Given the description of an element on the screen output the (x, y) to click on. 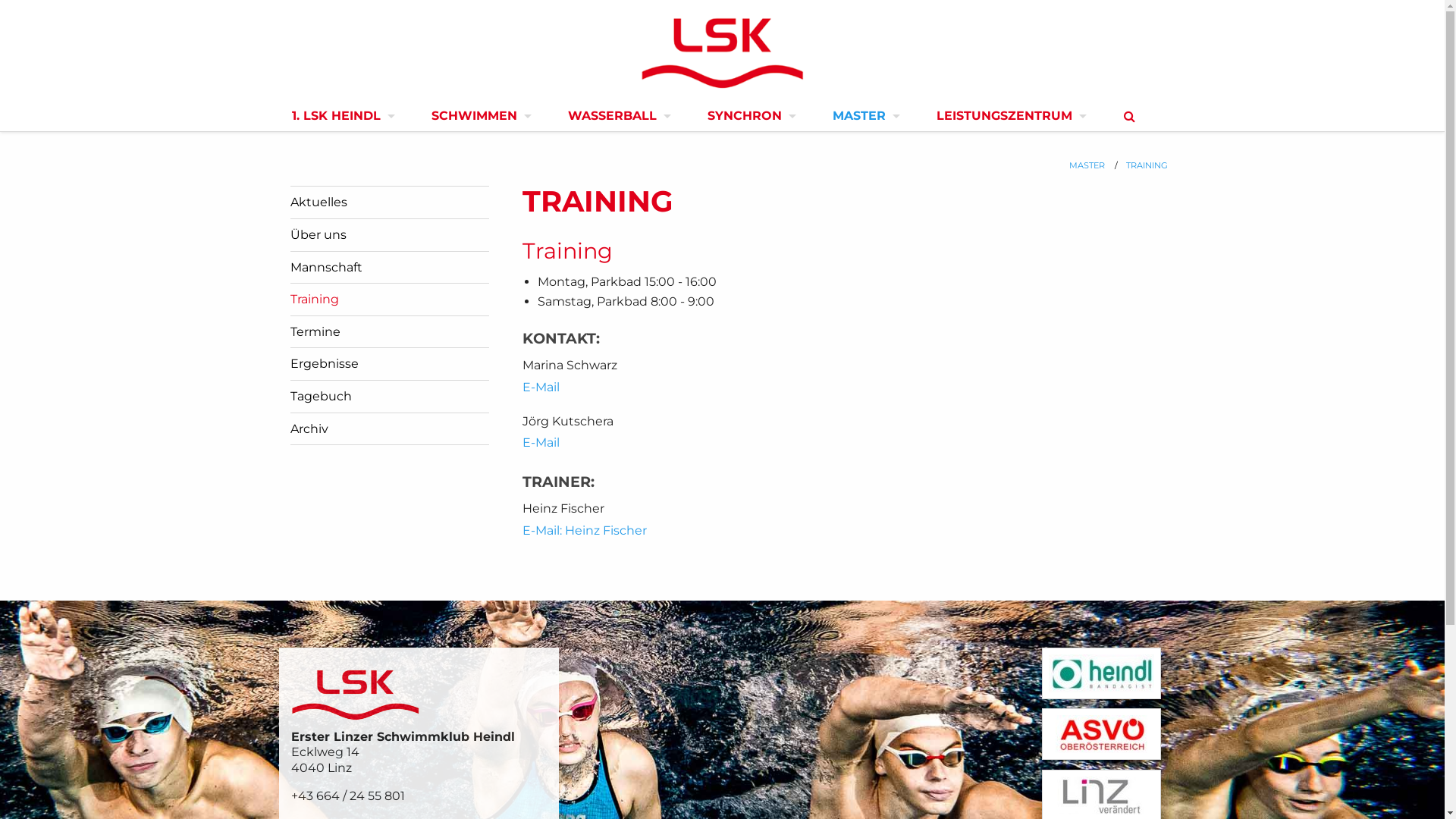
E-Mail: Heinz Fischer Element type: text (584, 530)
Termine Element type: text (314, 331)
SYNCHRON Element type: text (747, 115)
MASTER Element type: text (861, 115)
TRAINING Element type: text (1137, 165)
Ergebnisse Element type: text (323, 363)
+43 664 / 24 55 801 Element type: text (347, 795)
Archiv Element type: text (308, 428)
E-Mail Element type: text (540, 386)
MASTER Element type: text (1078, 165)
Training Element type: text (313, 298)
1. LSK HEINDL Element type: text (338, 115)
Mannschaft Element type: text (325, 267)
Tagebuch Element type: text (320, 396)
SCHWIMMEN Element type: text (477, 115)
WASSERBALL Element type: text (614, 115)
LEISTUNGSZENTRUM Element type: text (1007, 115)
E-Mail Element type: text (540, 442)
  Element type: text (1130, 116)
Aktuelles Element type: text (317, 201)
